Given the description of an element on the screen output the (x, y) to click on. 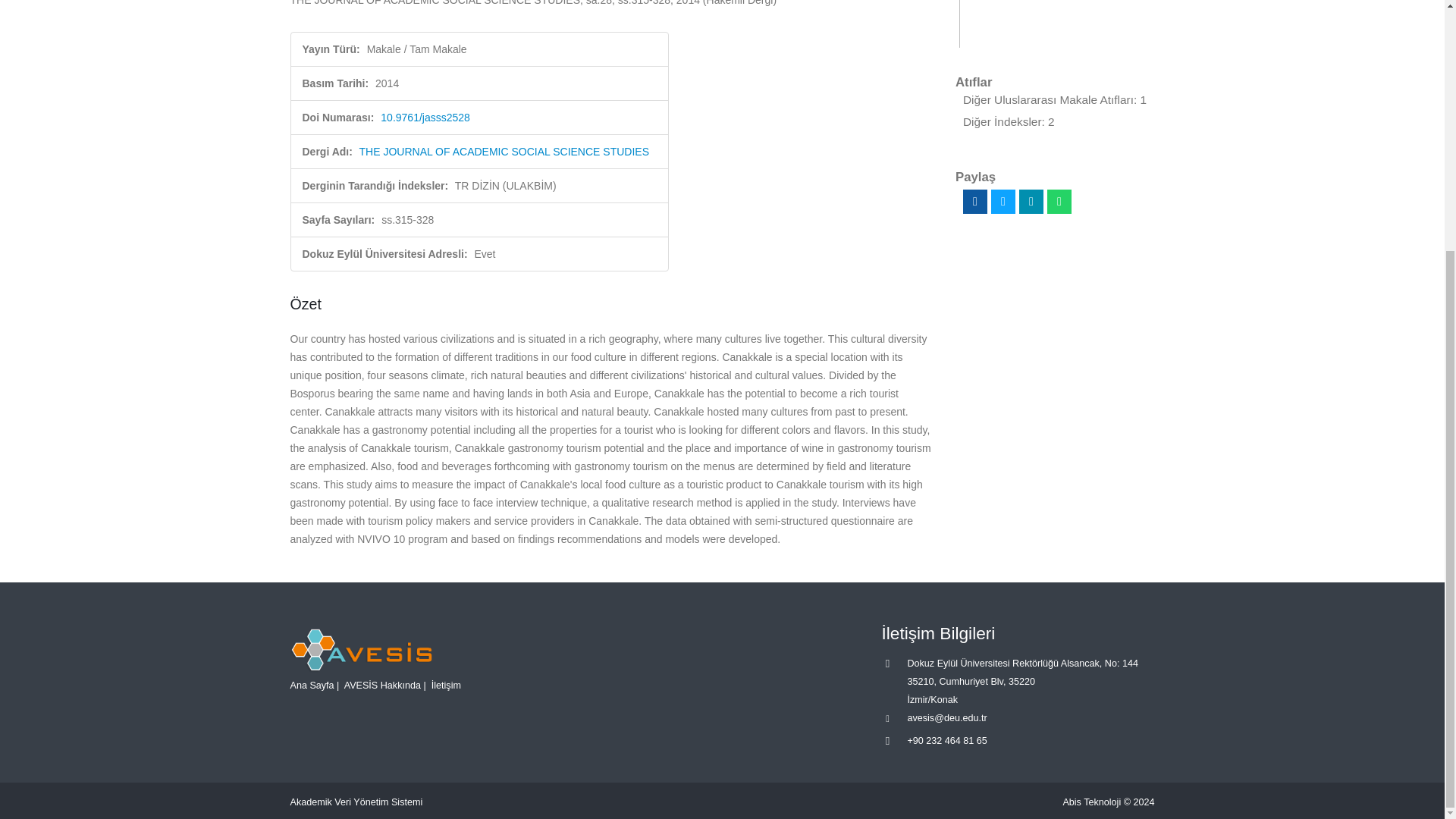
Ana Sayfa (311, 684)
Abis Teknoloji (1091, 801)
THE JOURNAL OF ACADEMIC SOCIAL SCIENCE STUDIES (504, 151)
